Given the description of an element on the screen output the (x, y) to click on. 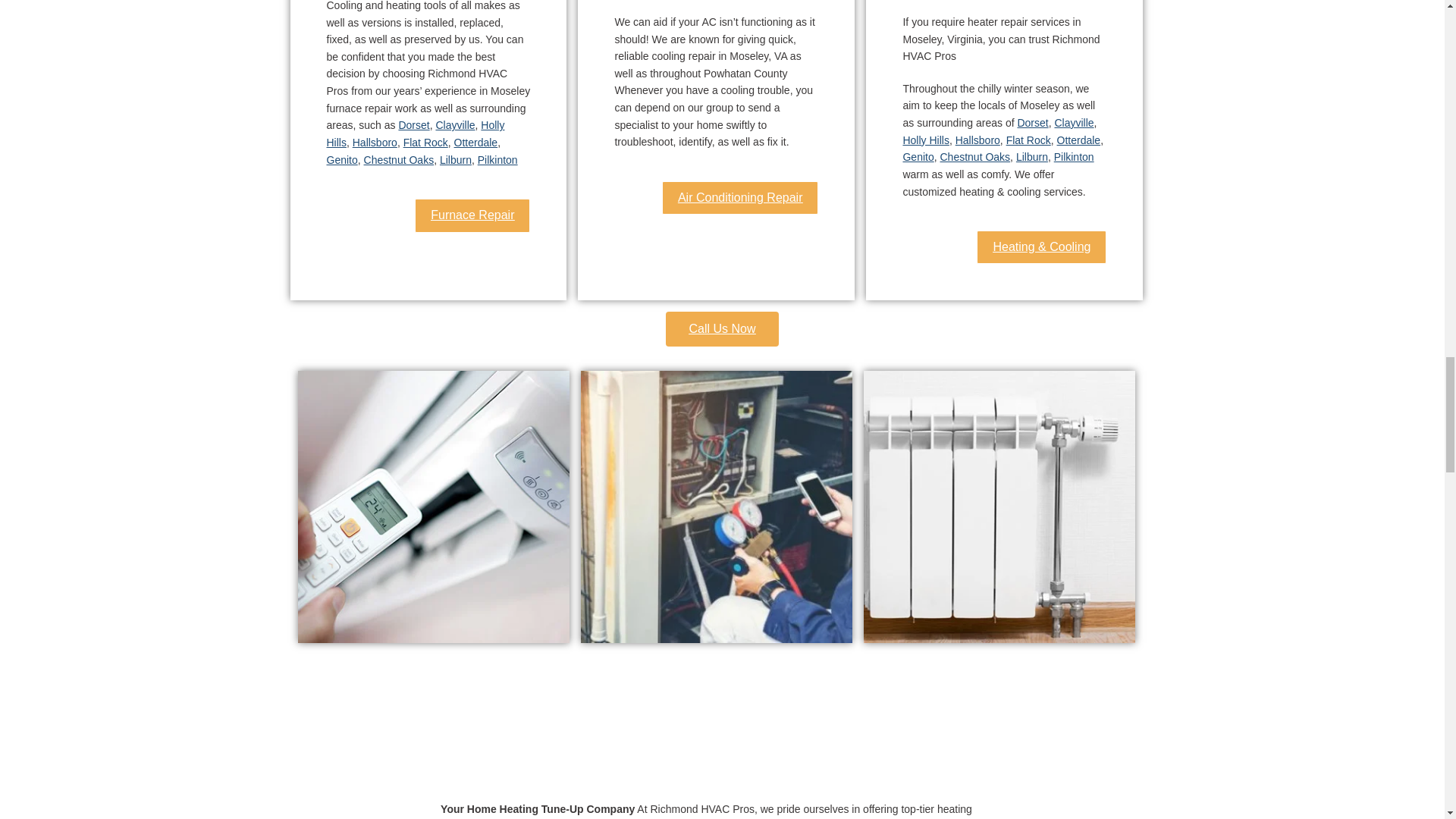
Chestnut Oaks (975, 156)
Otterdale (475, 142)
Air Conditioning Repair (740, 197)
Chestnut Oaks (398, 159)
Genito (917, 156)
Pilkinton (1074, 156)
Flat Rock (425, 142)
Pilkinton (497, 159)
Dorset (1032, 122)
Flat Rock (1028, 140)
